Given the description of an element on the screen output the (x, y) to click on. 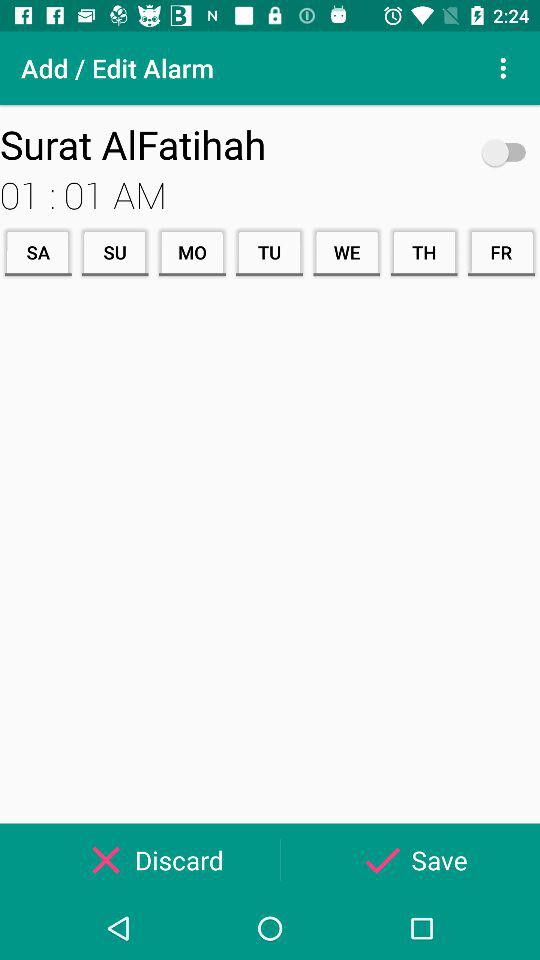
tap the icon next to the su icon (38, 251)
